Given the description of an element on the screen output the (x, y) to click on. 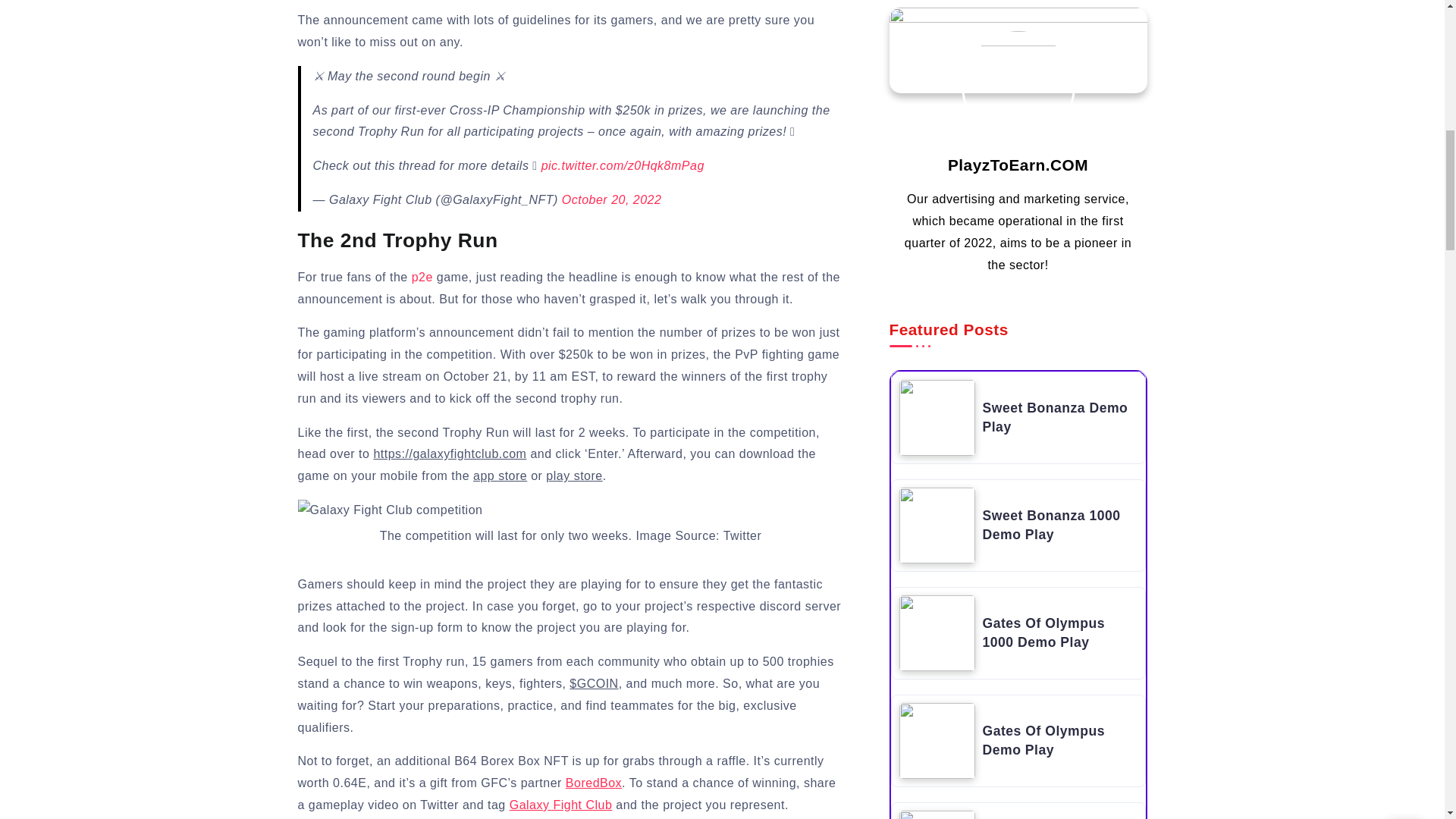
BoredBox (593, 782)
October 20, 2022 (612, 199)
Galaxy Fight Club (560, 804)
p2e (422, 277)
Picture2 24 (389, 510)
